Given the description of an element on the screen output the (x, y) to click on. 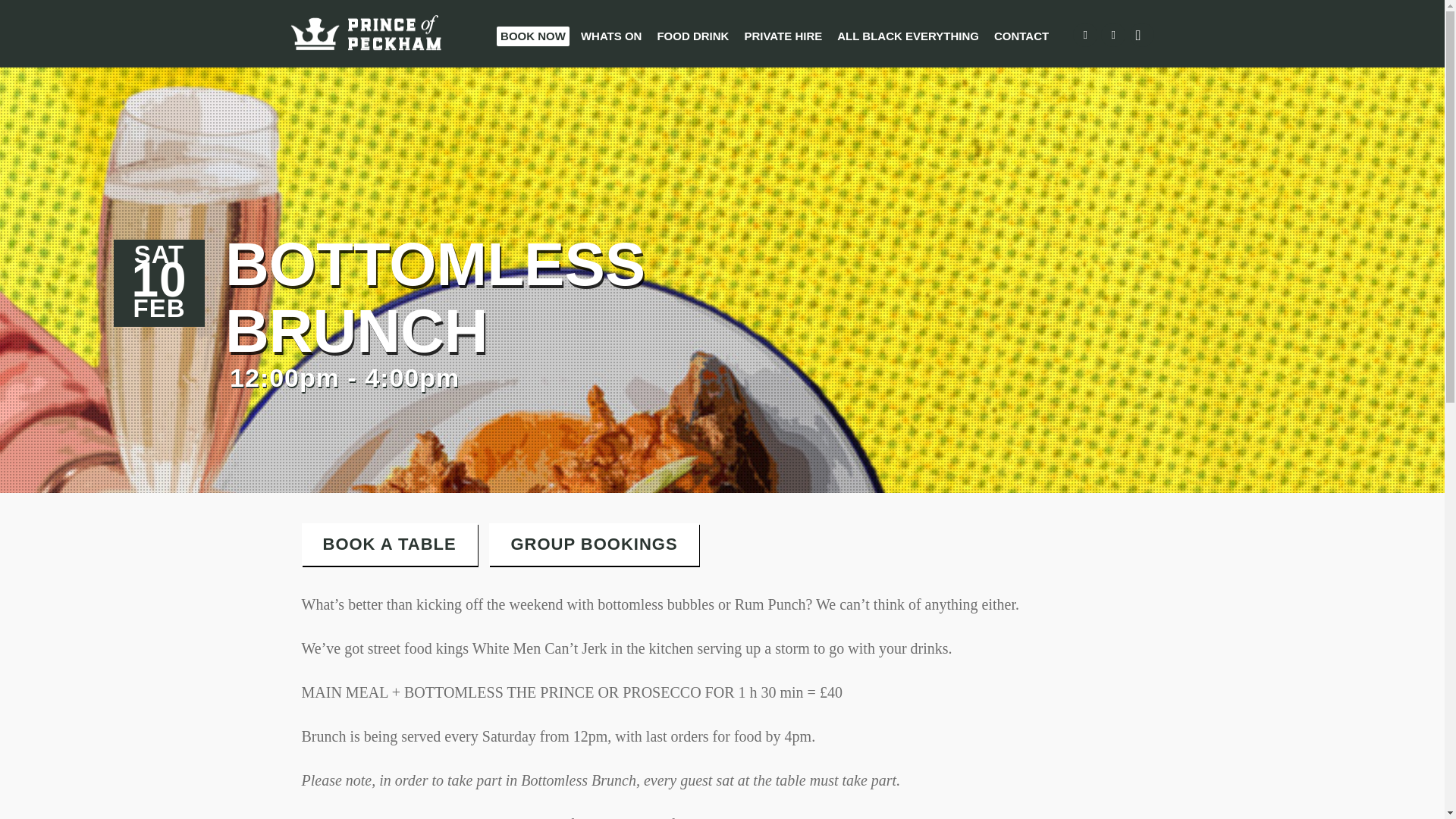
Send (721, 692)
Follow us on Twitter (1112, 34)
FOOD DRINK (692, 35)
Send (715, 776)
Send (721, 682)
Find us on Facebook (1085, 34)
CONTACT (1021, 35)
WHATS ON (611, 35)
BOOK NOW (532, 35)
Book a table (389, 544)
PRIVATE HIRE (782, 35)
GROUP BOOKINGS (593, 544)
ALL BLACK EVERYTHING (907, 35)
Follow us on Instagram (1141, 34)
BOOK A TABLE (389, 544)
